Given the description of an element on the screen output the (x, y) to click on. 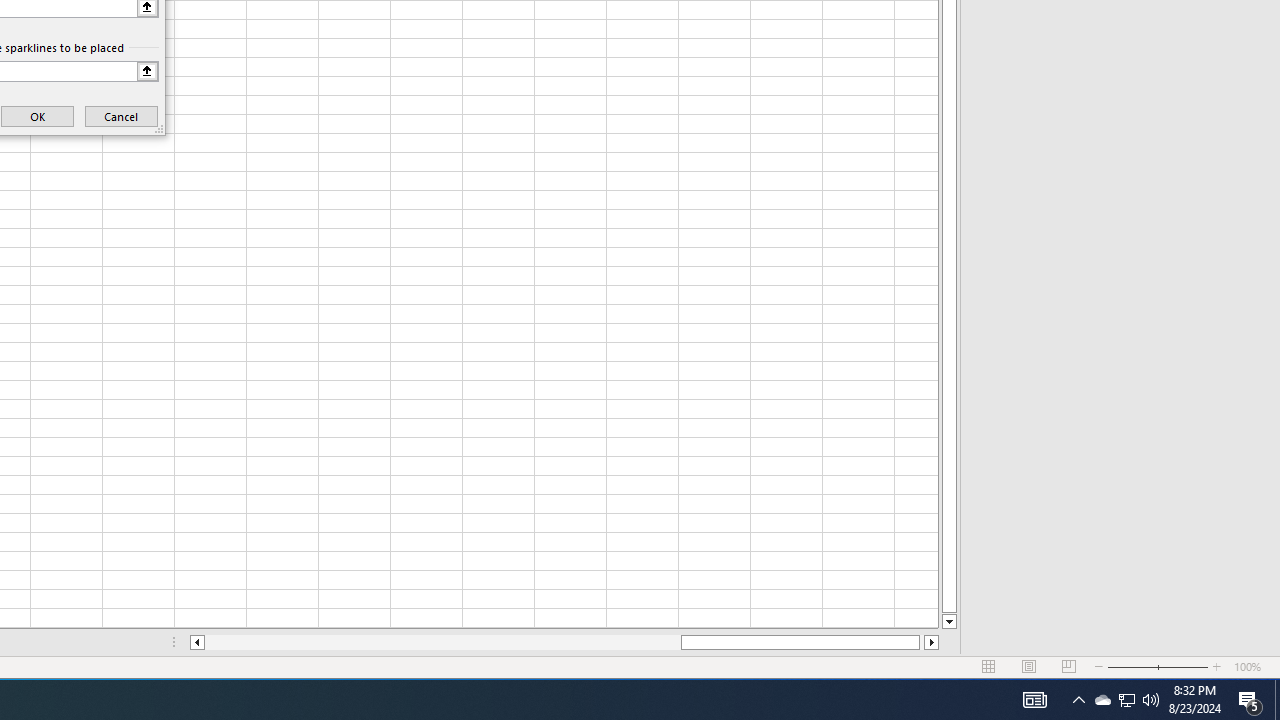
Page left (442, 642)
